Given the description of an element on the screen output the (x, y) to click on. 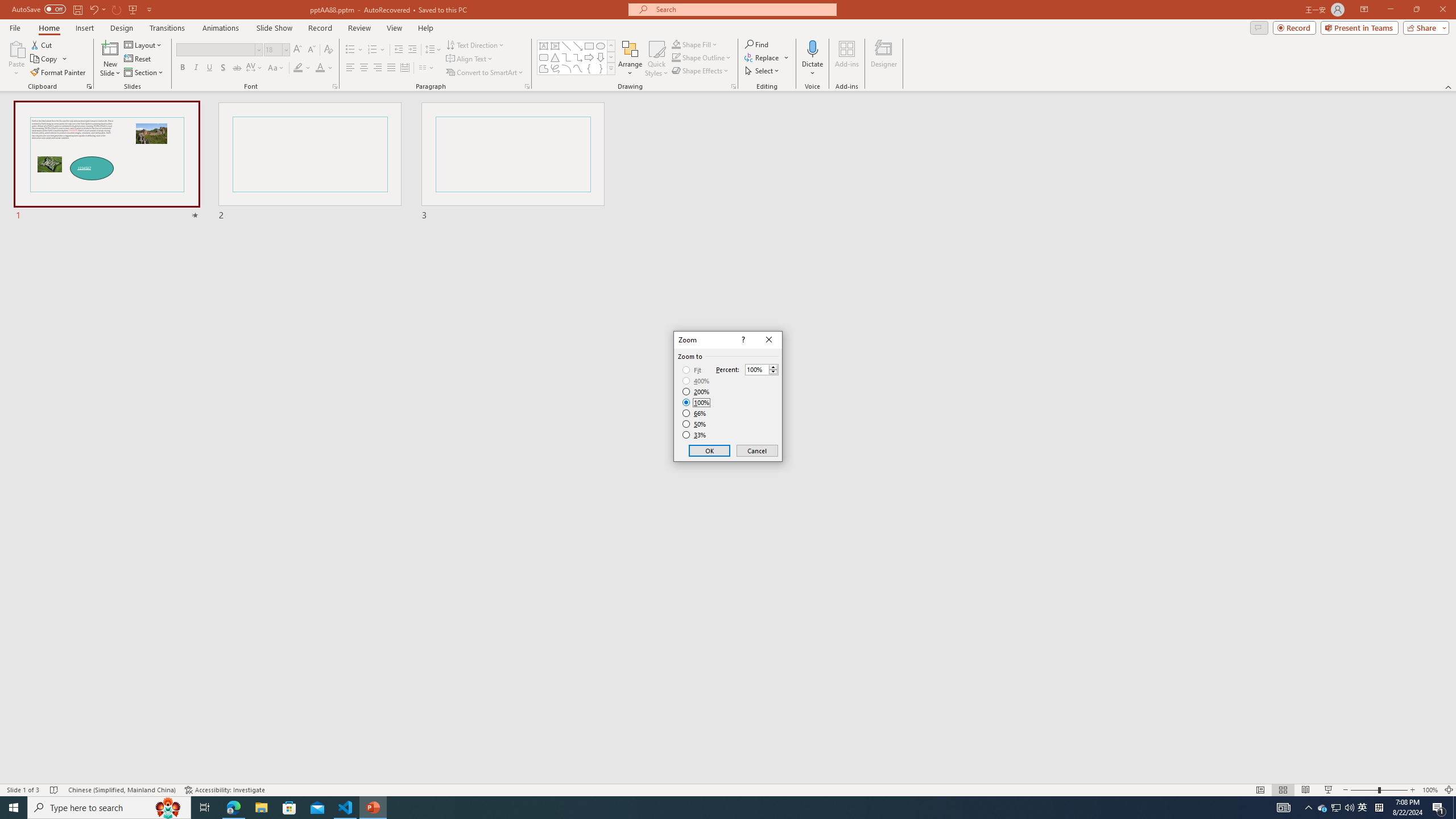
Fit (691, 370)
